Given the description of an element on the screen output the (x, y) to click on. 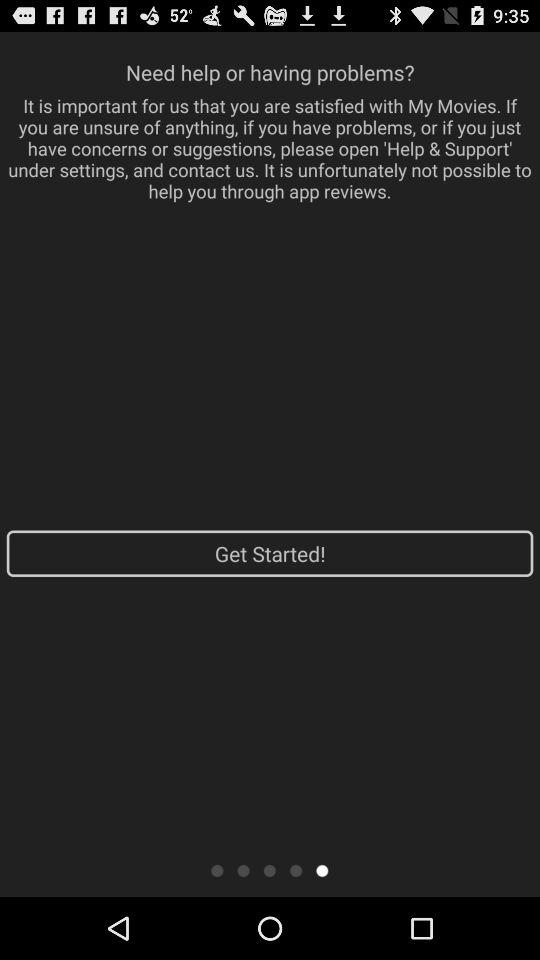
shows third page option (269, 870)
